Given the description of an element on the screen output the (x, y) to click on. 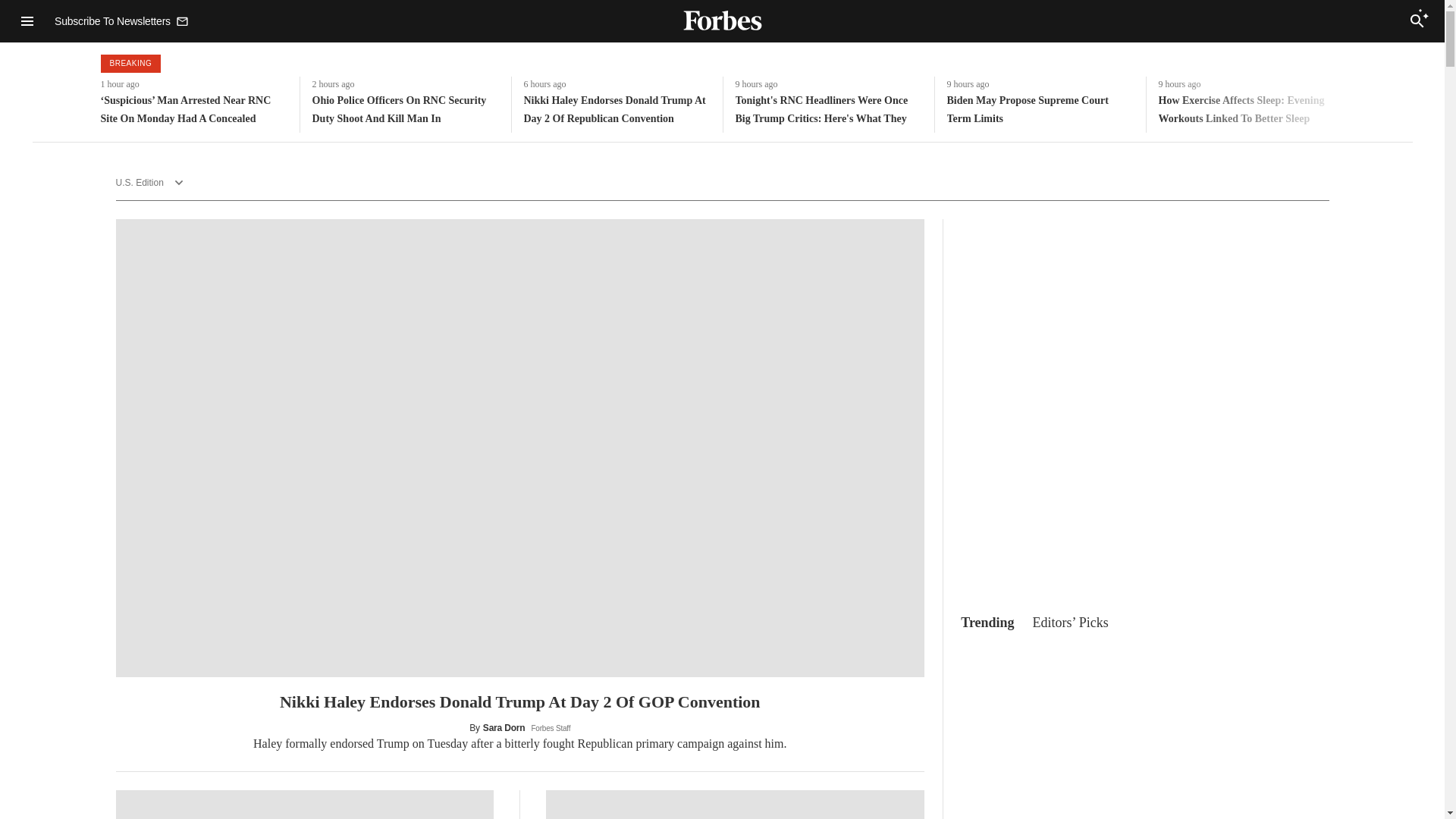
Nikki Haley Endorses Donald Trump At Day 2 Of GOP Convention (519, 701)
Sara Dorn (504, 727)
Biden May Propose Supreme Court Term Limits (1040, 109)
U.S. Edition (155, 183)
Subscribe To Newsletters (122, 20)
BREAKING (130, 63)
